Given the description of an element on the screen output the (x, y) to click on. 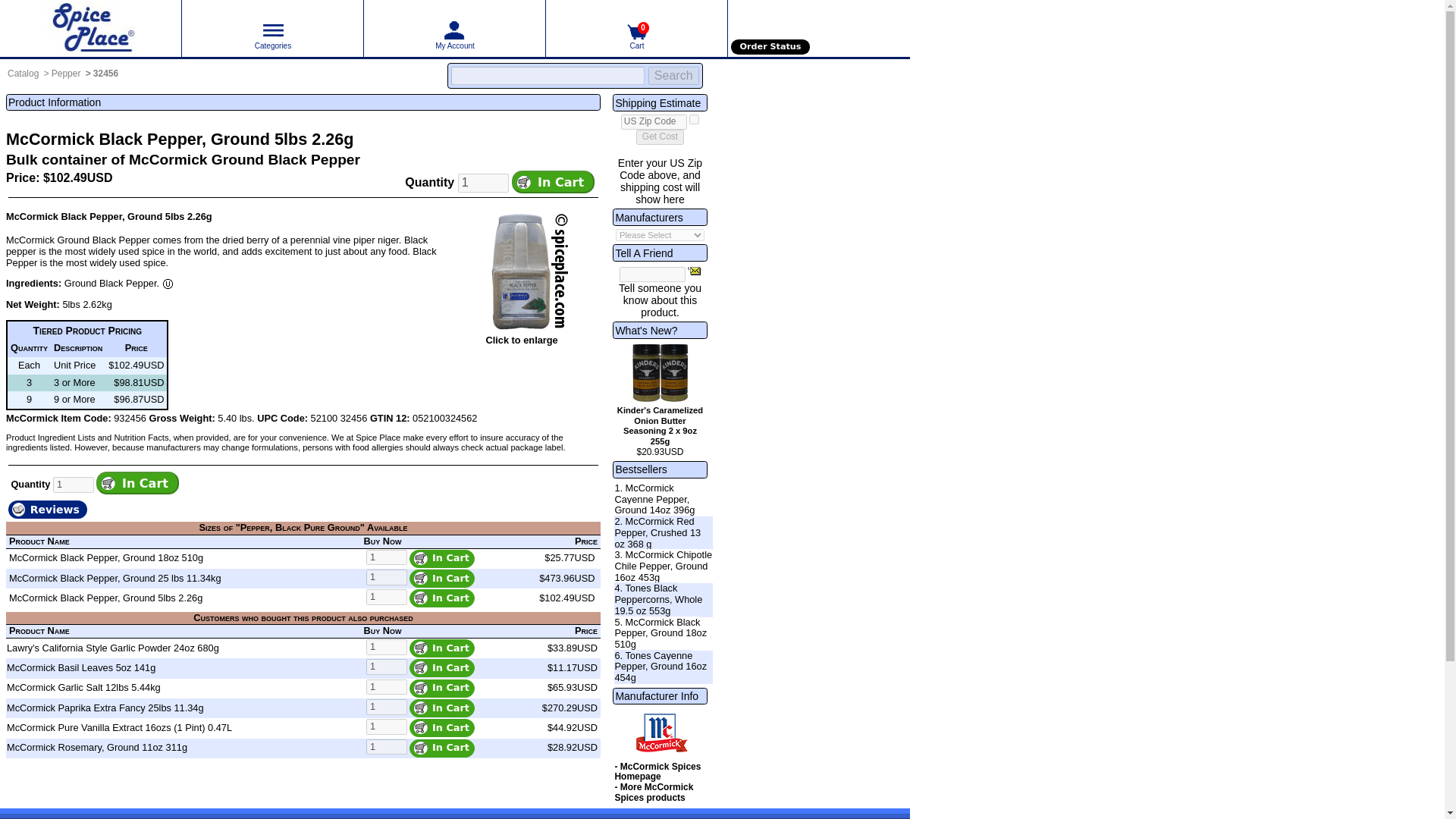
1 (386, 706)
32456 (105, 72)
Search (672, 75)
Reviews (47, 508)
In Cart (441, 597)
In Cart (441, 648)
In Cart (441, 558)
1 (386, 666)
1 (386, 687)
Categories (272, 29)
In Cart (441, 578)
1 (386, 577)
In Cart (441, 668)
Spice Place (90, 28)
My Account (454, 29)
